Given the description of an element on the screen output the (x, y) to click on. 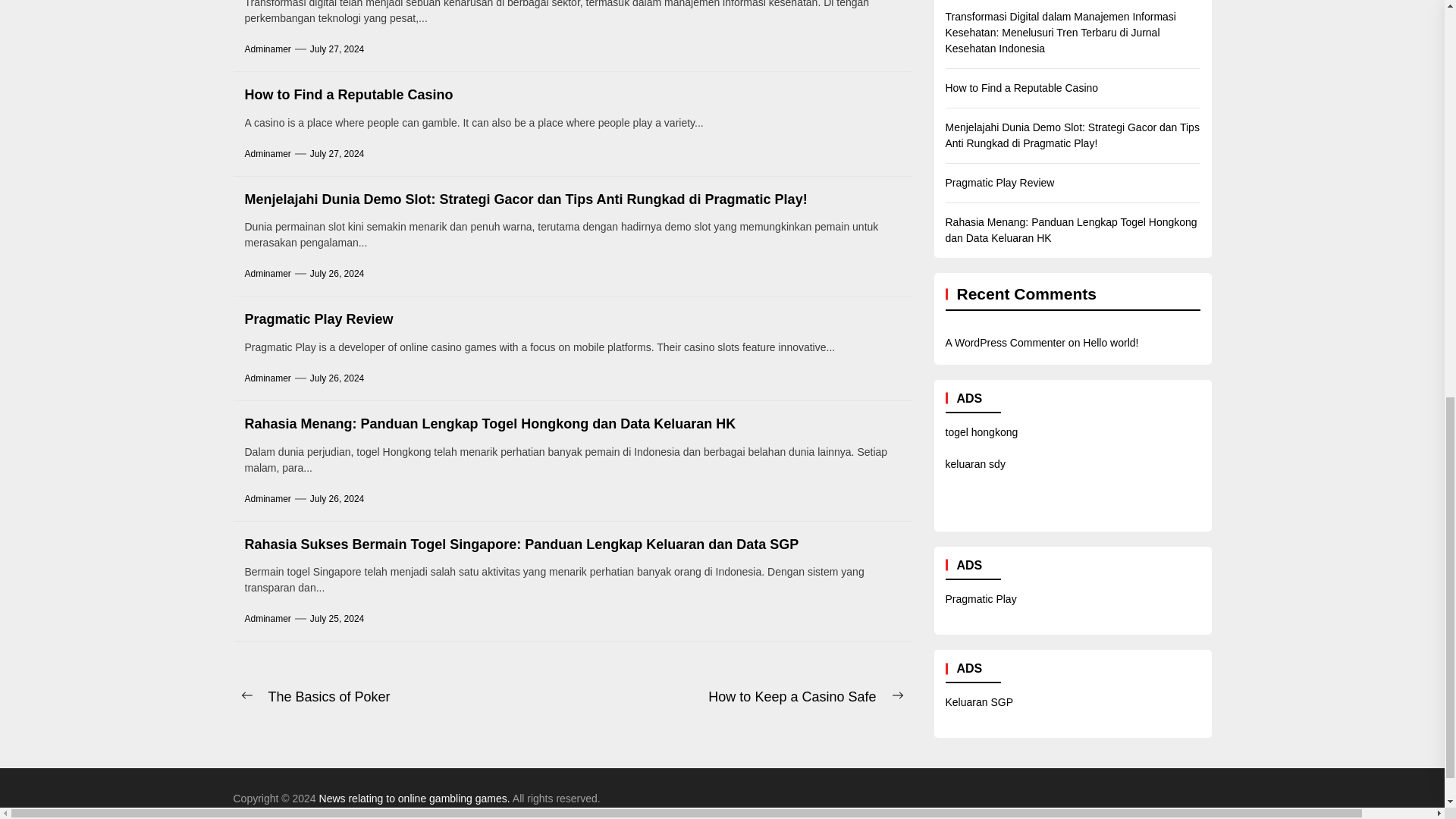
December 2022 (1262, 34)
May 2022 (1247, 310)
August 2022 (1254, 191)
July 2022 (1246, 231)
October 2022 (1256, 113)
April 2022 (1248, 349)
September 2022 (1263, 152)
November 2022 (1262, 73)
January 2023 (1256, 1)
June 2022 (1249, 270)
